Given the description of an element on the screen output the (x, y) to click on. 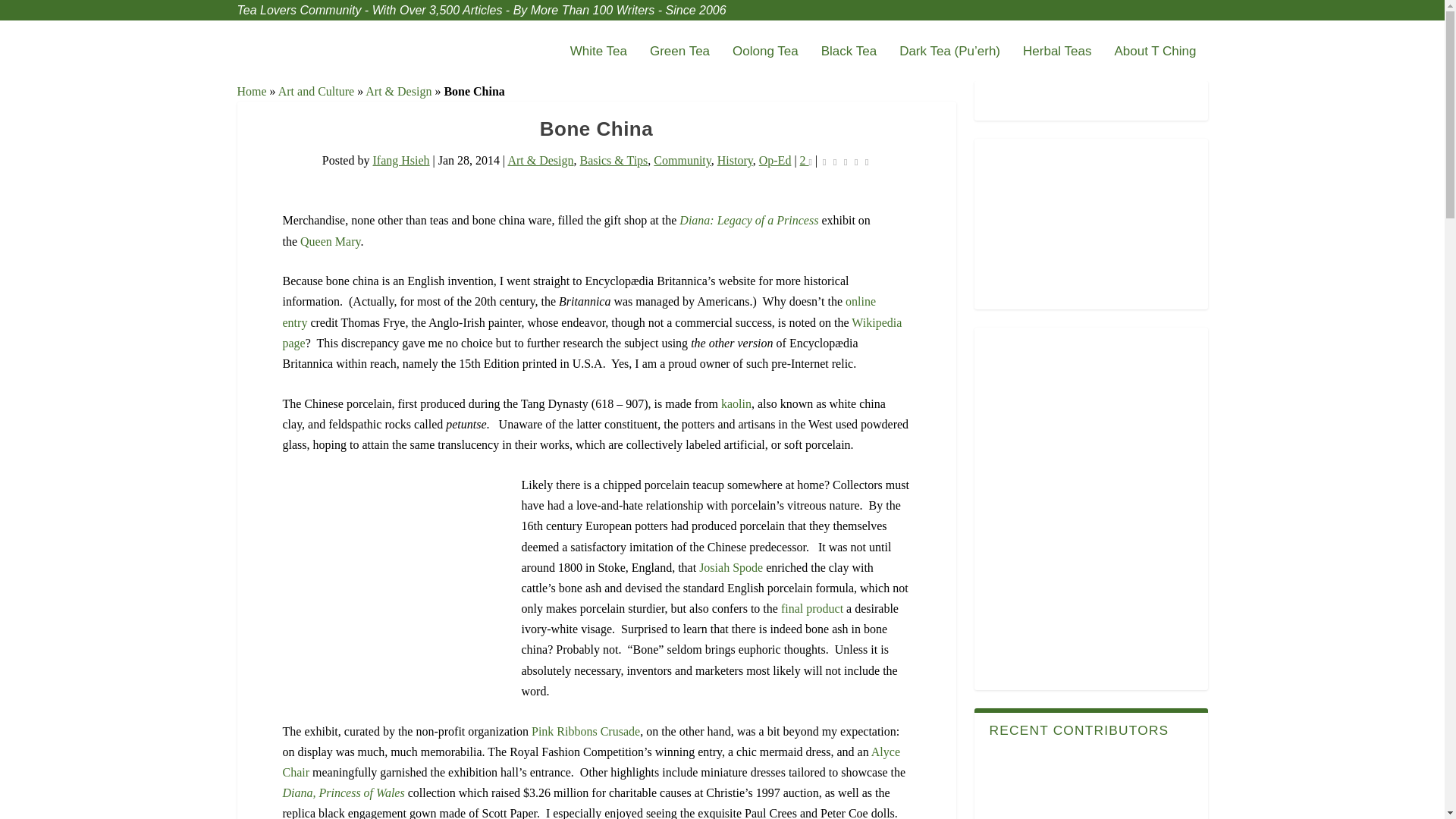
About T Ching (1154, 63)
online entry (579, 311)
Posts by Ifang Hsieh (400, 160)
Wikipedia page (591, 332)
Op-Ed (775, 160)
Art and Culture (315, 91)
Diana, Princess of Wales (343, 792)
Home (250, 91)
White Tea (598, 63)
Ifang Hsieh (400, 160)
